Given the description of an element on the screen output the (x, y) to click on. 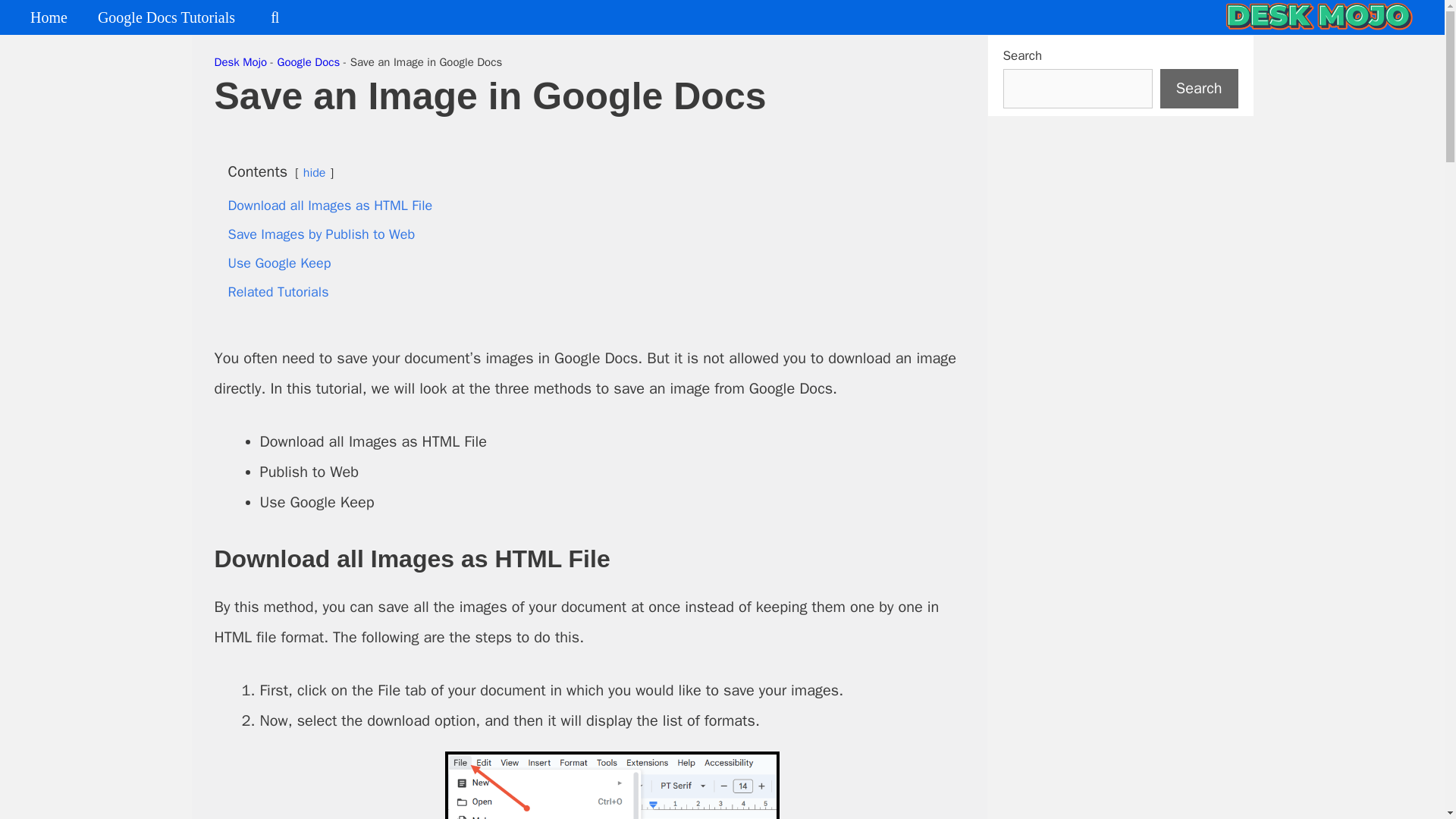
Search (1199, 88)
Use Google Keep (278, 262)
Google Docs (309, 61)
Google Docs Tutorials (166, 17)
Save Images by Publish to Web (320, 234)
hide (314, 172)
Desk Mojo (240, 61)
lick-image-then-download (611, 785)
Related Tutorials (278, 291)
Download all Images as HTML File (329, 205)
Home (48, 17)
